Given the description of an element on the screen output the (x, y) to click on. 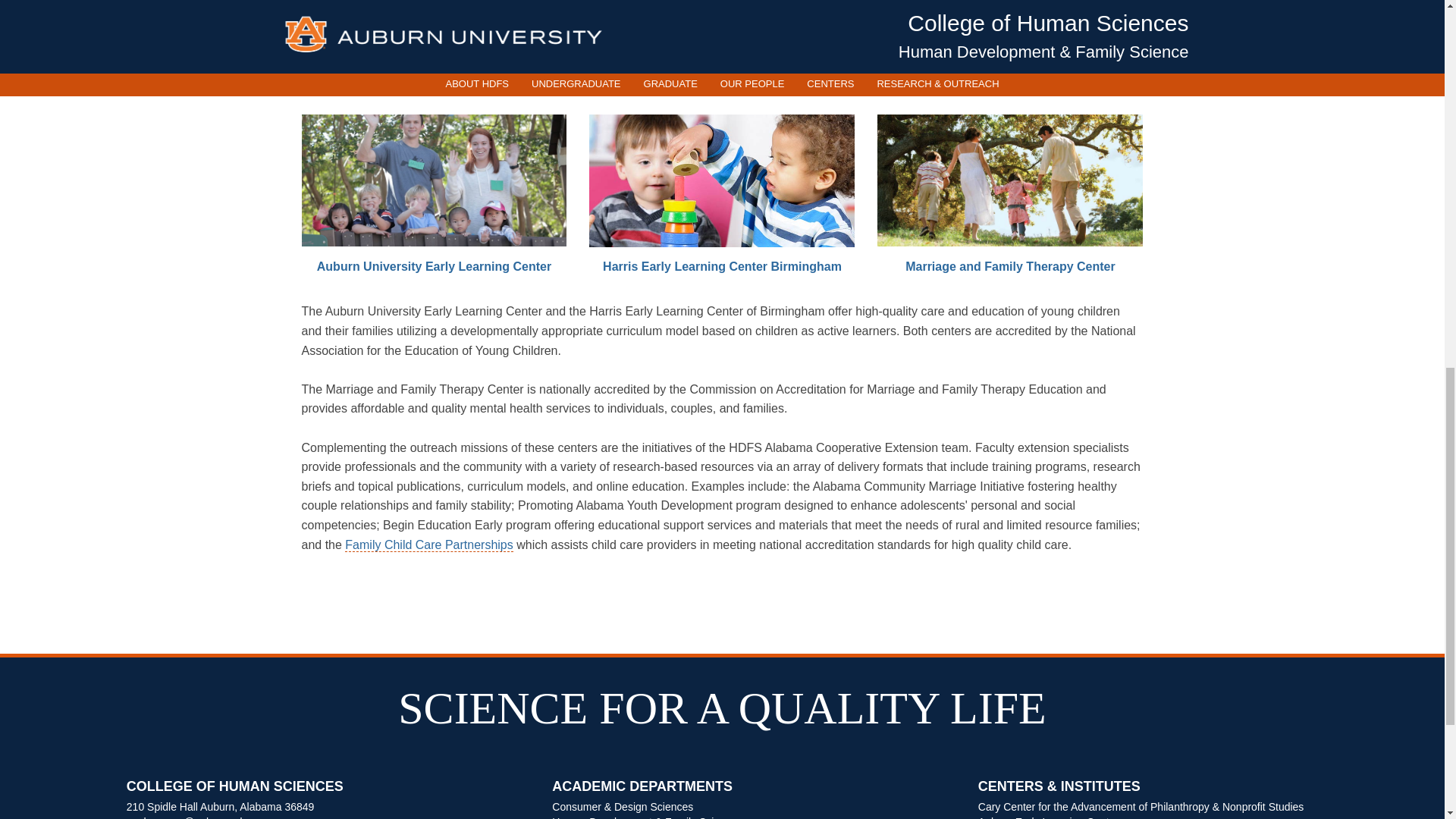
HDFS Cooperative Extension Team (515, 54)
COLLEGE OF HUMAN SCIENCES (316, 792)
Family Child Care Partnerships (428, 545)
Harris Early Learning Center Birmingham (721, 266)
the Harris Early Learning Center of Birmingham (817, 34)
Auburn University Early Learning Center (434, 266)
Marriage and Family Therapy Center (1010, 266)
the Marriage and Family Therapy Center (716, 44)
Auburn University Early Learning Center (573, 34)
